Given the description of an element on the screen output the (x, y) to click on. 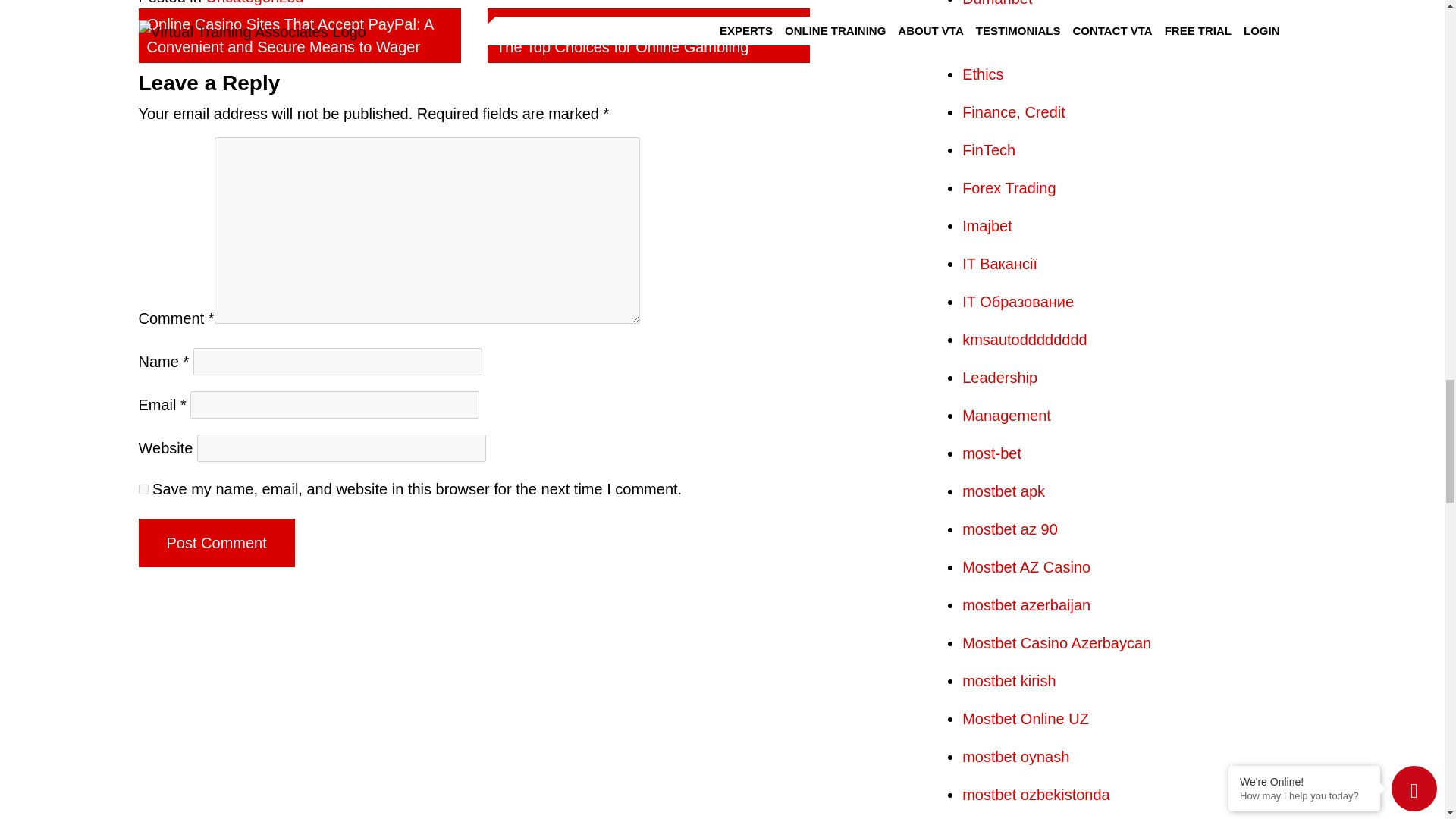
Post Comment (216, 542)
Uncategorized (253, 2)
yes (143, 489)
Post Comment (216, 542)
